Given the description of an element on the screen output the (x, y) to click on. 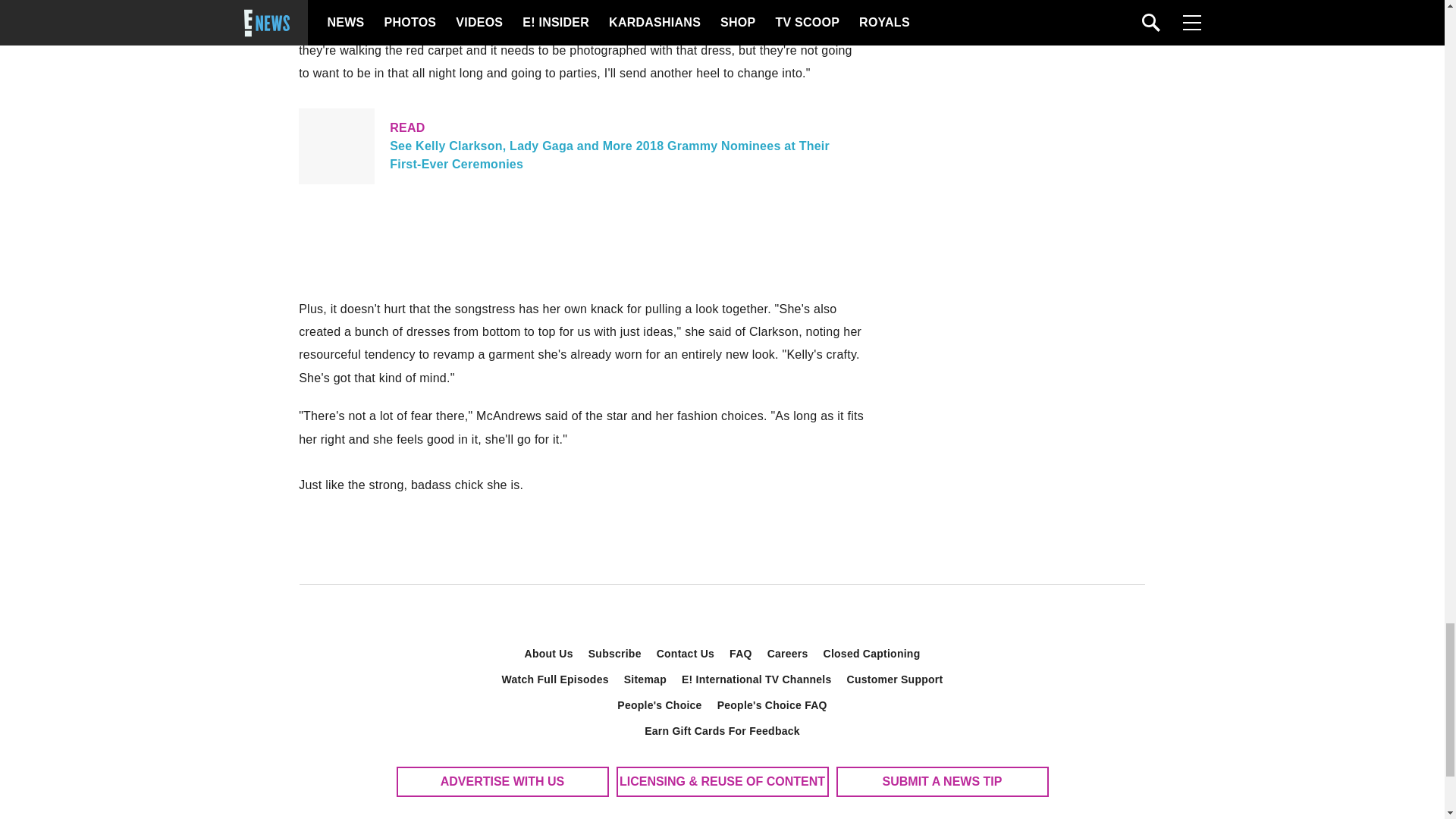
Subscribe (614, 653)
About Us (548, 653)
Contact Us (685, 653)
